Given the description of an element on the screen output the (x, y) to click on. 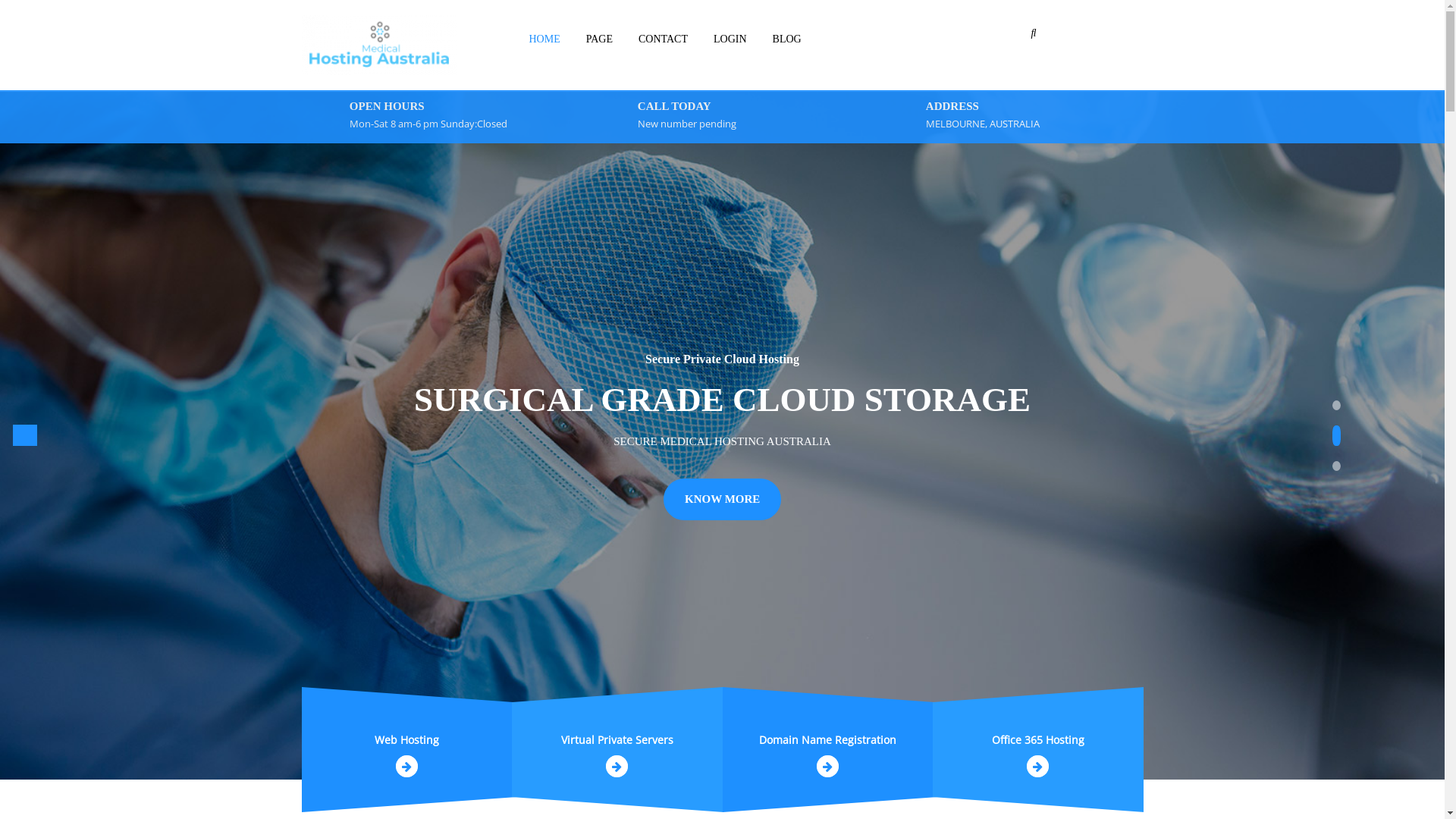
BLOG Element type: text (786, 39)
KNOW MORE Element type: text (722, 522)
LOGIN Element type: text (729, 39)
PAGE Element type: text (599, 39)
KNOW MORE Element type: text (722, 499)
HOME Element type: text (544, 39)
CONTACT Element type: text (662, 39)
